Given the description of an element on the screen output the (x, y) to click on. 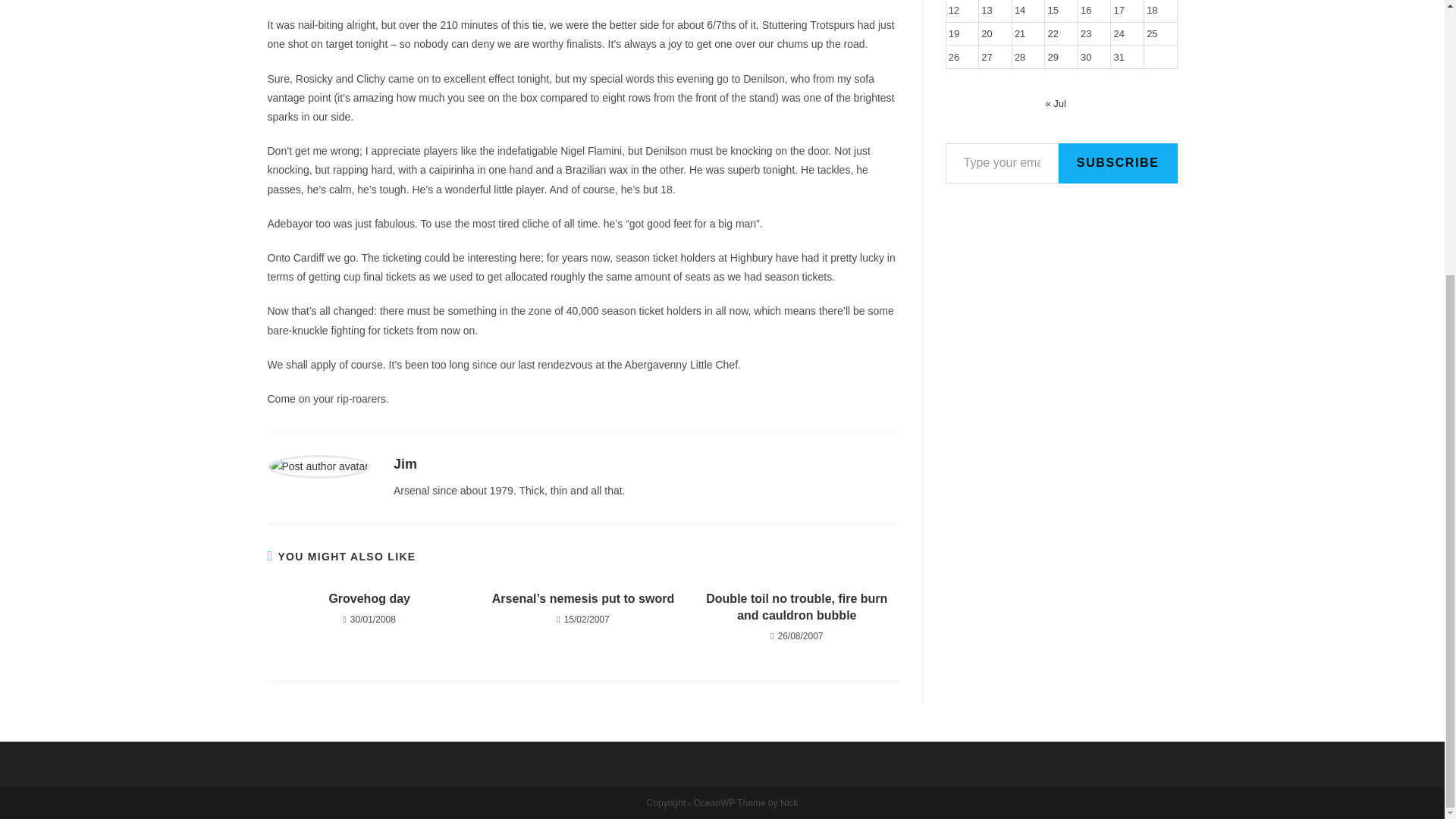
Visit author page (317, 465)
Double toil no trouble, fire burn and cauldron bubble (796, 607)
Grovehog day (368, 598)
SUBSCRIBE (1117, 163)
Visit author page (404, 463)
Jim (404, 463)
